Given the description of an element on the screen output the (x, y) to click on. 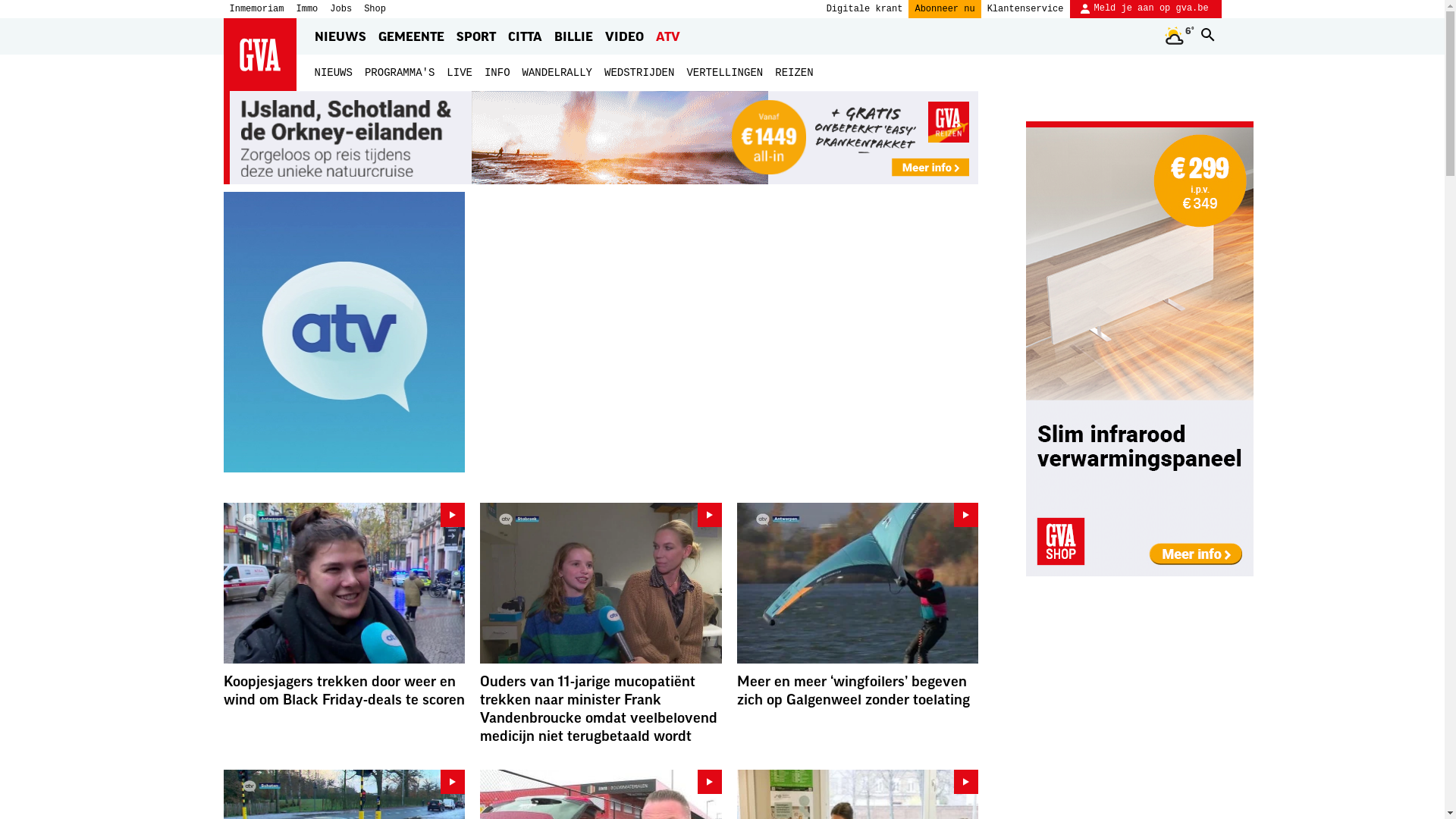
WEDSTRIJDEN Element type: text (639, 72)
3rd party ad content Element type: hover (600, 137)
NIEUWS Element type: text (332, 72)
Shop Element type: text (374, 9)
SPORT Element type: text (475, 36)
INFO Element type: text (497, 72)
Immo Element type: text (307, 9)
3rd party ad content Element type: hover (1139, 348)
Digitale krant Element type: text (864, 9)
LIVE Element type: text (459, 72)
ATV Element type: text (667, 36)
NIEUWS Element type: text (339, 36)
REIZEN Element type: text (793, 72)
PROGRAMMA'S Element type: text (399, 72)
Jobs Element type: text (340, 9)
BILLIE Element type: text (572, 36)
Klantenservice Element type: text (1025, 9)
Inmemoriam Element type: text (256, 9)
Abonneer nu Element type: text (944, 9)
VERTELLINGEN Element type: text (724, 72)
WANDELRALLY Element type: text (557, 72)
VIDEO Element type: text (624, 36)
CITTA Element type: text (525, 36)
GEMEENTE Element type: text (410, 36)
